Given the description of an element on the screen output the (x, y) to click on. 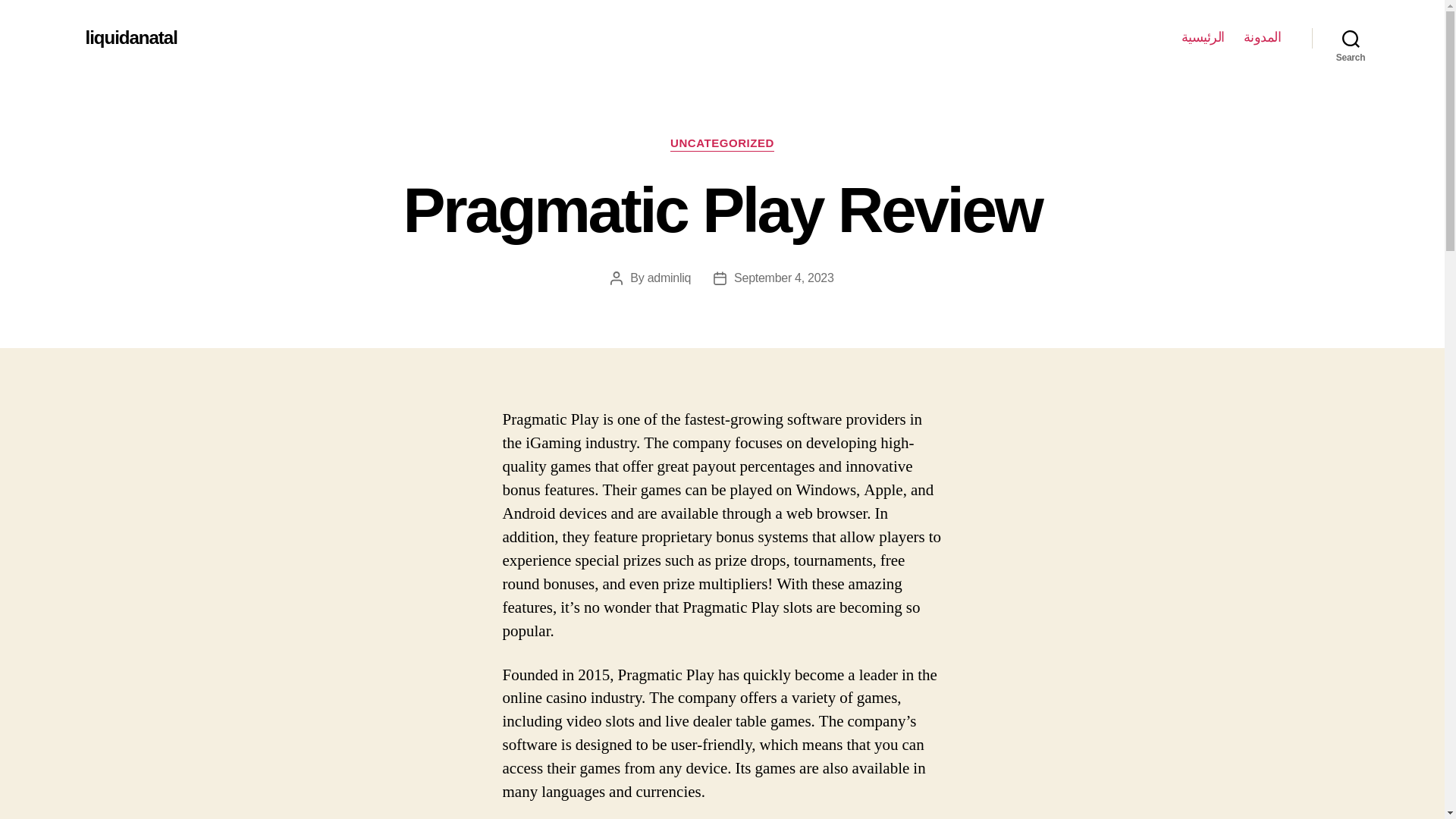
September 4, 2023 (783, 277)
liquidanatal (130, 37)
adminliq (668, 277)
UNCATEGORIZED (721, 143)
Search (1350, 37)
